Given the description of an element on the screen output the (x, y) to click on. 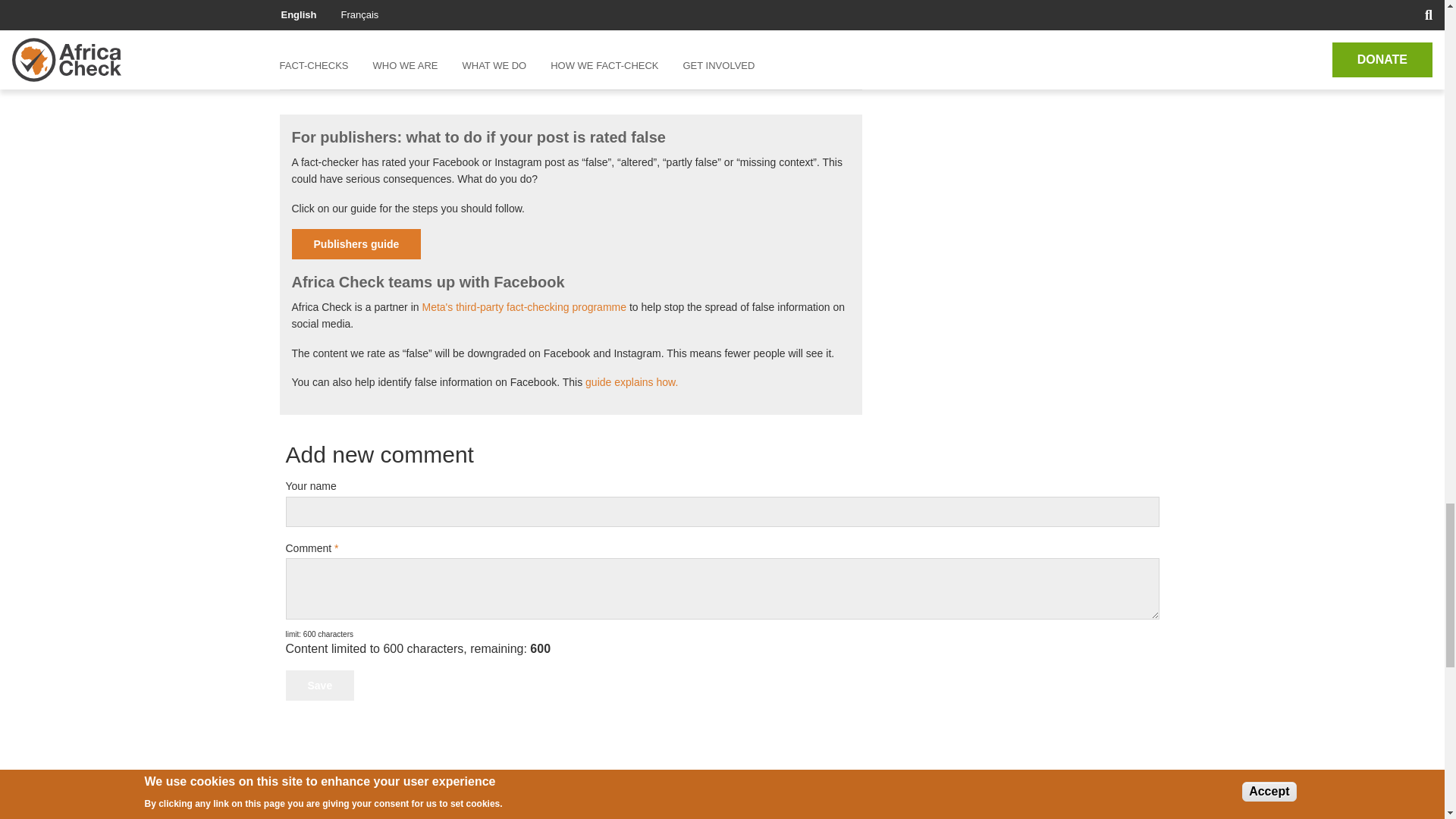
Save (319, 685)
Get Code (348, 51)
